Given the description of an element on the screen output the (x, y) to click on. 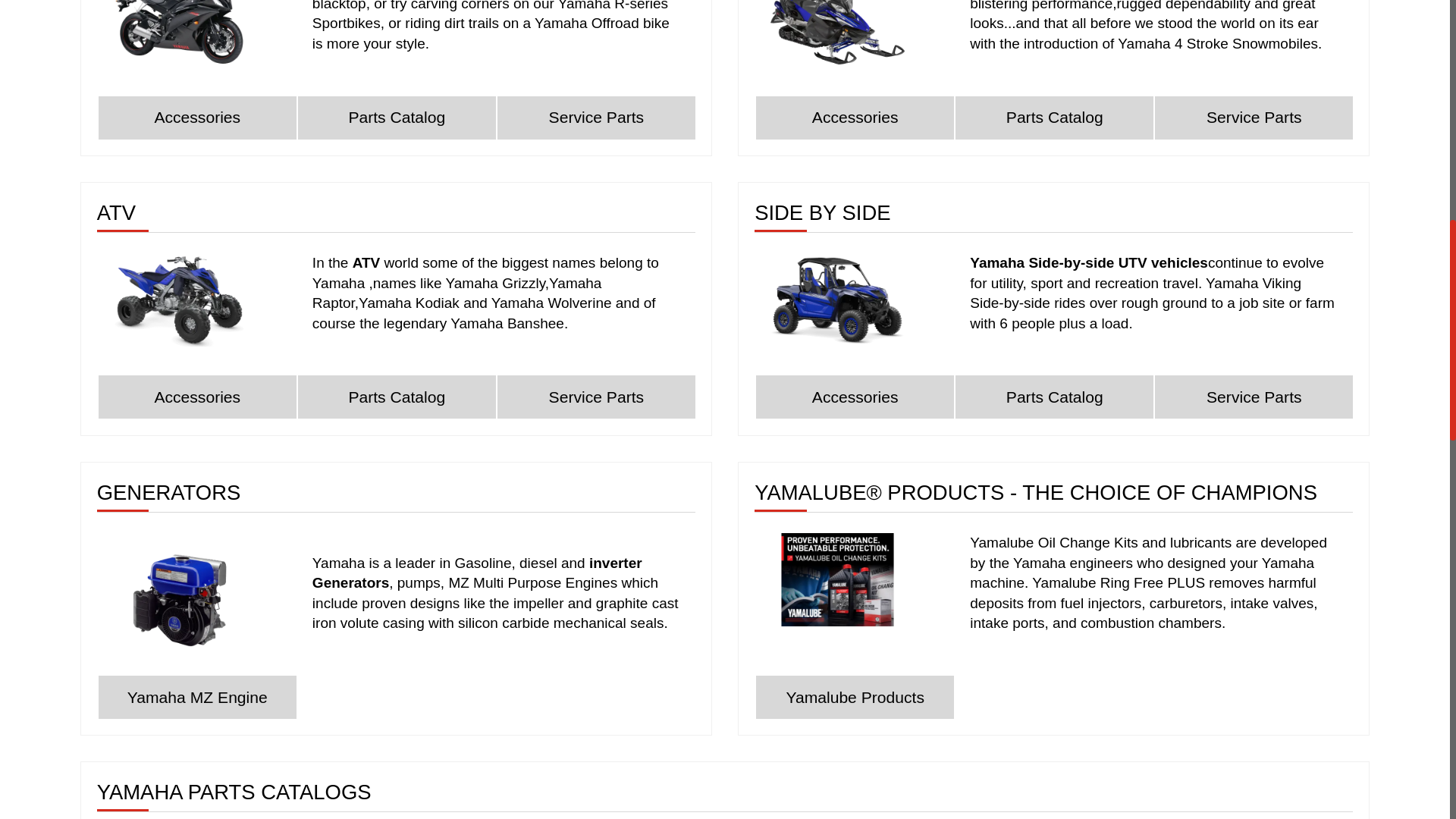
Service Parts (1253, 117)
Accessories (198, 117)
Accessories (198, 396)
Service Parts (596, 117)
Service Parts (596, 396)
Parts Catalog (397, 396)
Service Parts (1253, 396)
Accessories (854, 117)
Parts Catalog (1054, 396)
Accessories (854, 396)
Parts Catalog (1054, 117)
Parts Catalog (397, 117)
